Given the description of an element on the screen output the (x, y) to click on. 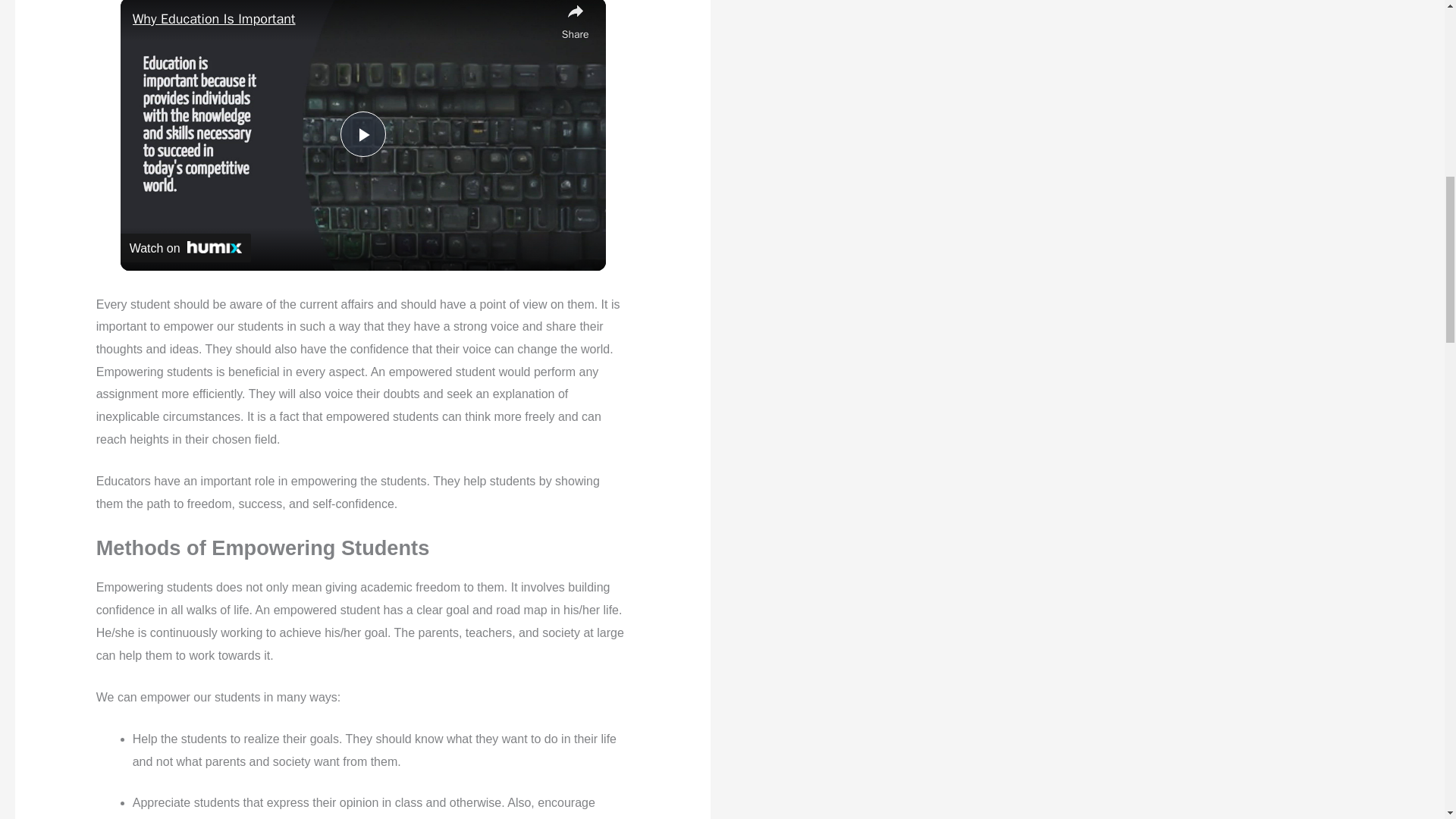
share (575, 22)
Play Video (362, 134)
